Given the description of an element on the screen output the (x, y) to click on. 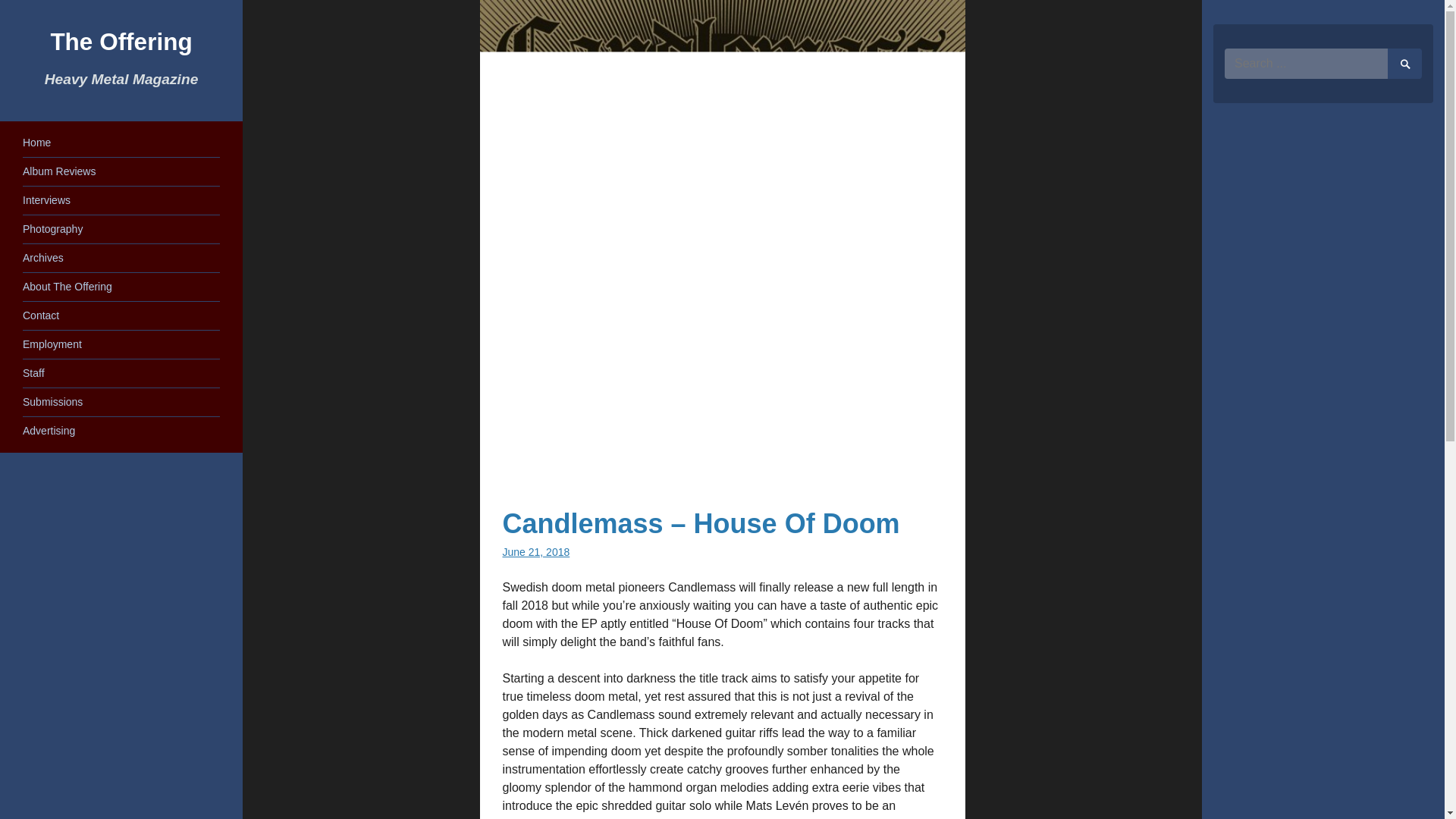
Home (36, 142)
Archives (43, 257)
The Offering (120, 41)
Interviews (46, 200)
Photography (52, 228)
Search for: (1321, 63)
Album Reviews (59, 171)
